Given the description of an element on the screen output the (x, y) to click on. 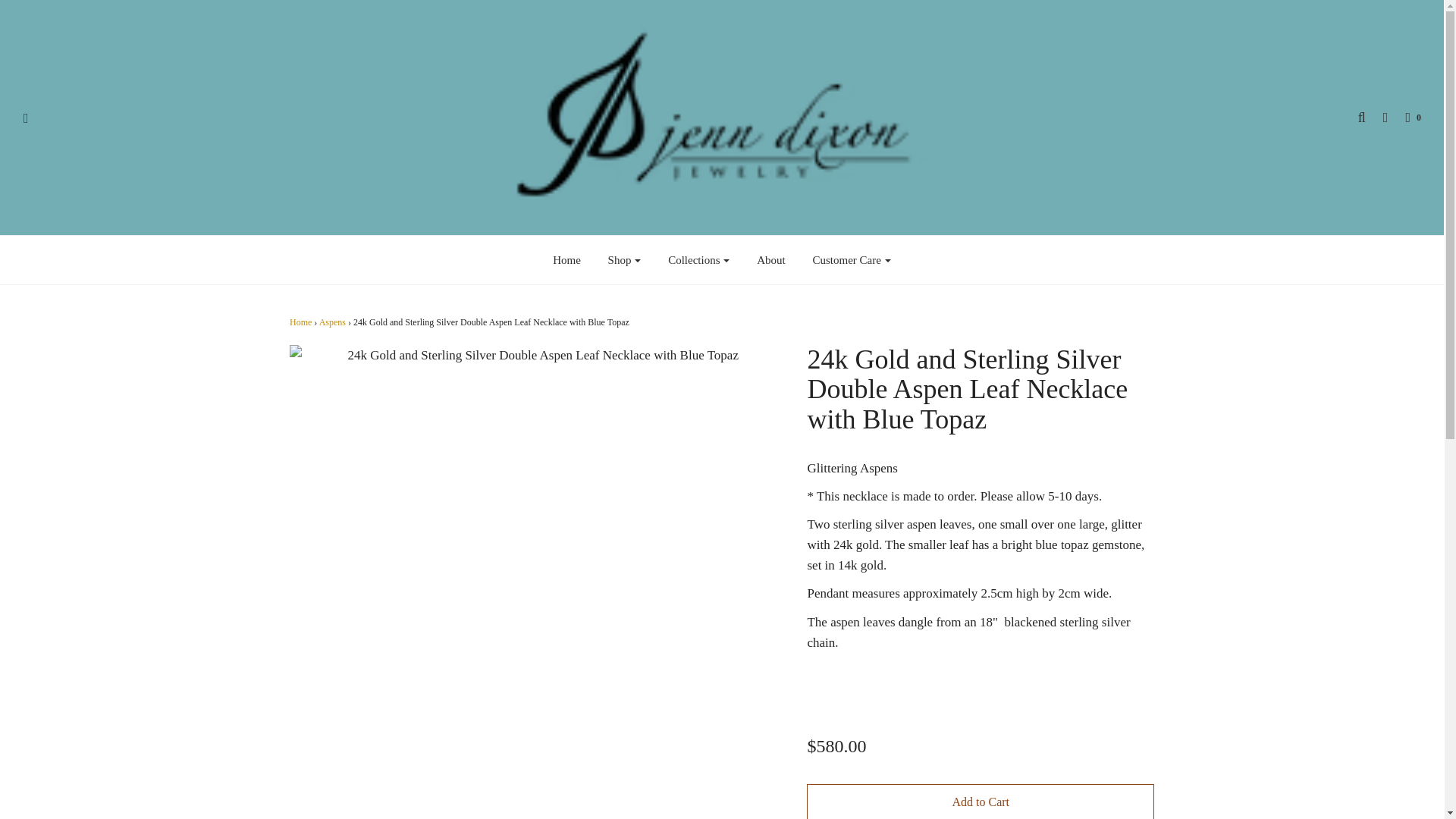
Cart (1405, 117)
Collections (698, 259)
0 (1405, 117)
Shop (624, 259)
Back to the frontpage (300, 321)
Log in (1378, 117)
Search (1353, 117)
Home (566, 259)
